Given the description of an element on the screen output the (x, y) to click on. 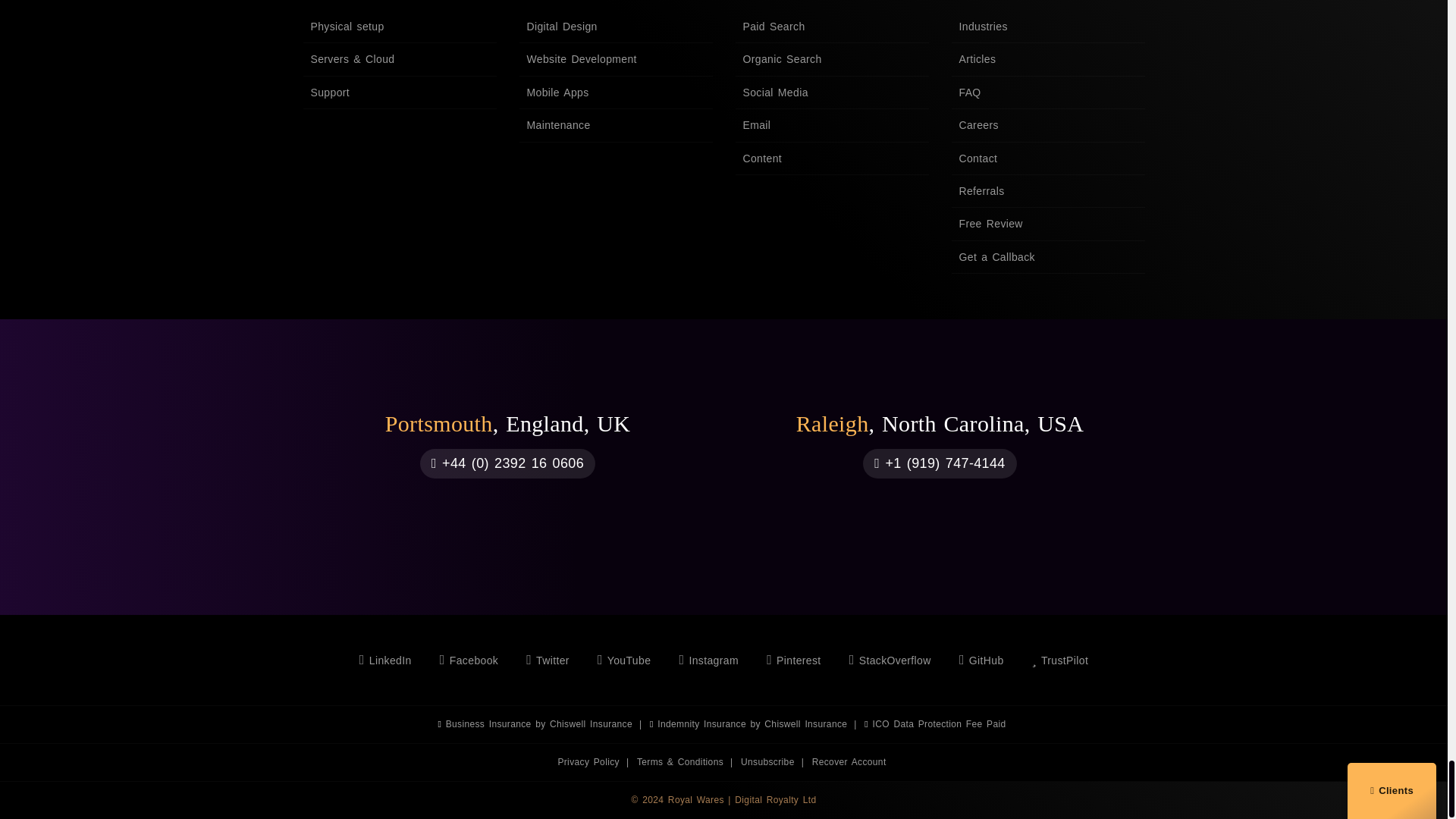
Digital Design (614, 26)
Paid Search (831, 26)
Organic Search (831, 59)
Email (831, 124)
Support (399, 92)
Social Media (831, 92)
Physical setup (399, 26)
Website Development (614, 59)
Maintenance (614, 124)
Mobile Apps (614, 92)
